Given the description of an element on the screen output the (x, y) to click on. 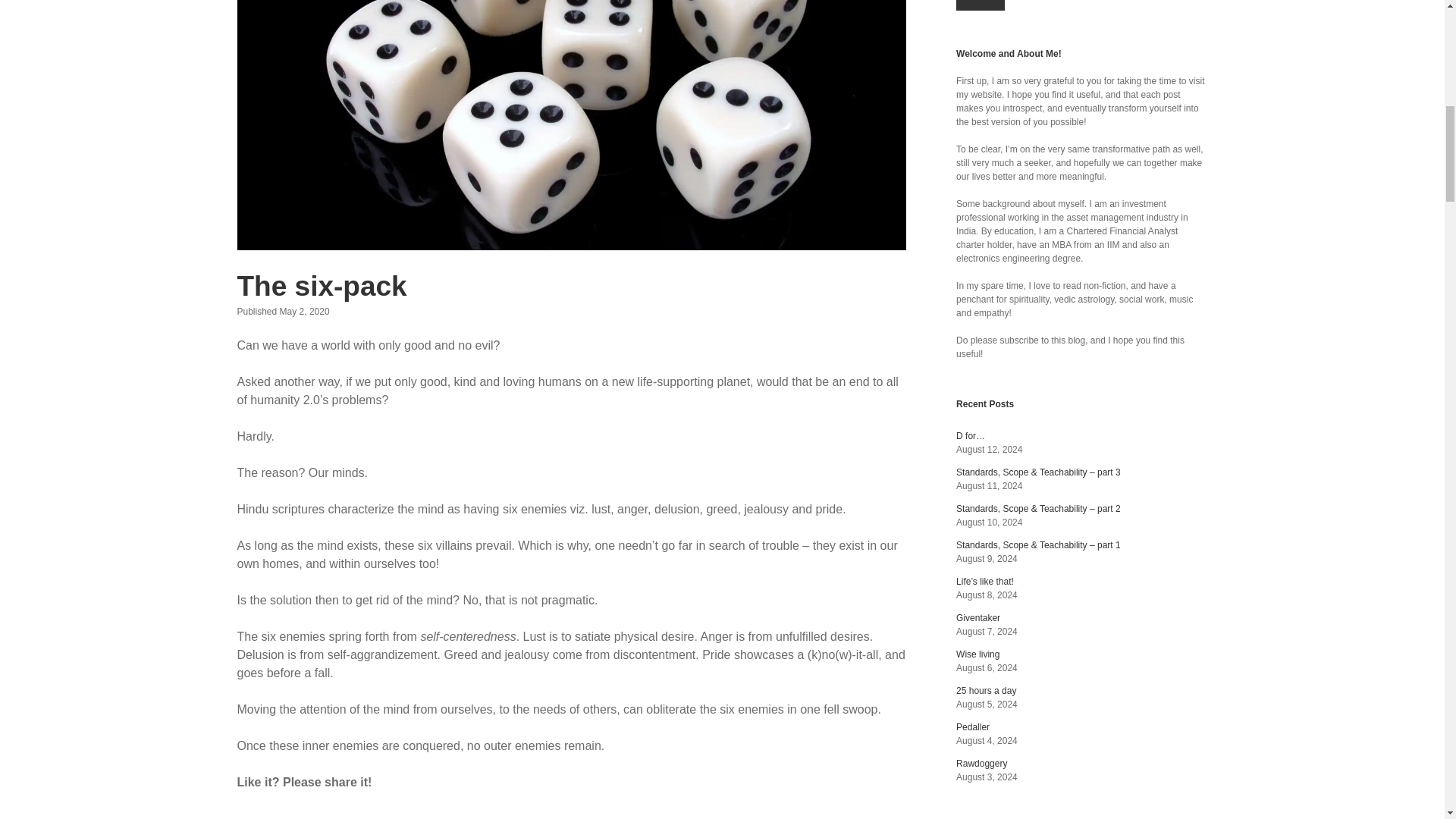
Giventaker (978, 617)
Rawdoggery (981, 763)
Subscribe (980, 5)
The six-pack (320, 286)
25 hours a day (986, 690)
Subscribe (980, 5)
Wise living (977, 654)
Pedaller (973, 726)
Welcome and About Me! (1008, 53)
